Given the description of an element on the screen output the (x, y) to click on. 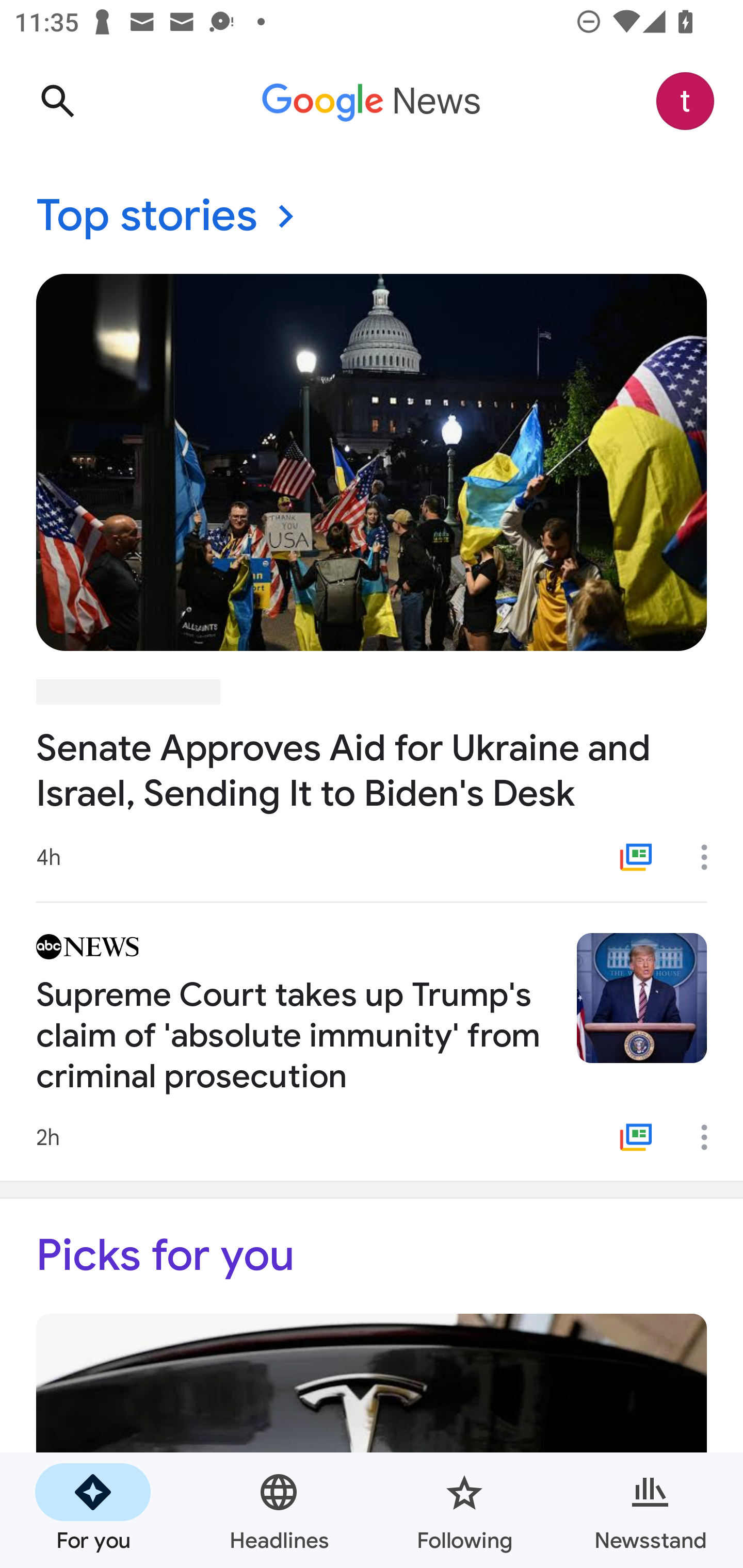
Search (57, 100)
Top stories (371, 216)
More options (711, 856)
More options (711, 1137)
For you (92, 1509)
Headlines (278, 1509)
Following (464, 1509)
Newsstand (650, 1509)
